Given the description of an element on the screen output the (x, y) to click on. 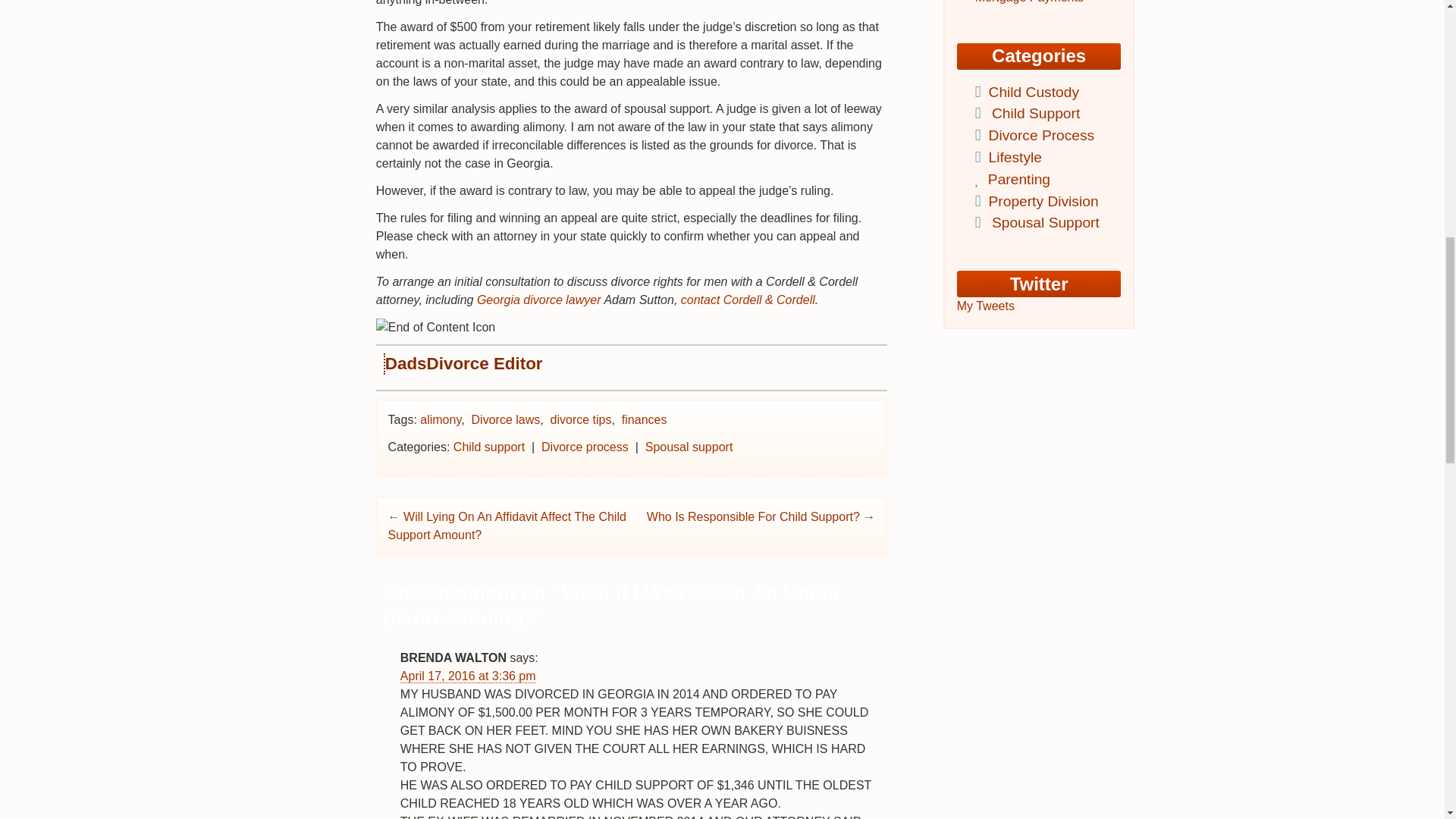
divorce tips (580, 419)
April 17, 2016 at 3:36 pm (467, 676)
DadsDivorce Editor (464, 363)
Spousal support (689, 446)
All posts by DadsDivorce Editor (464, 363)
Child support (488, 446)
Georgia divorce lawyer (539, 299)
Divorce laws (505, 419)
alimony (440, 419)
Divorce process (584, 446)
